Given the description of an element on the screen output the (x, y) to click on. 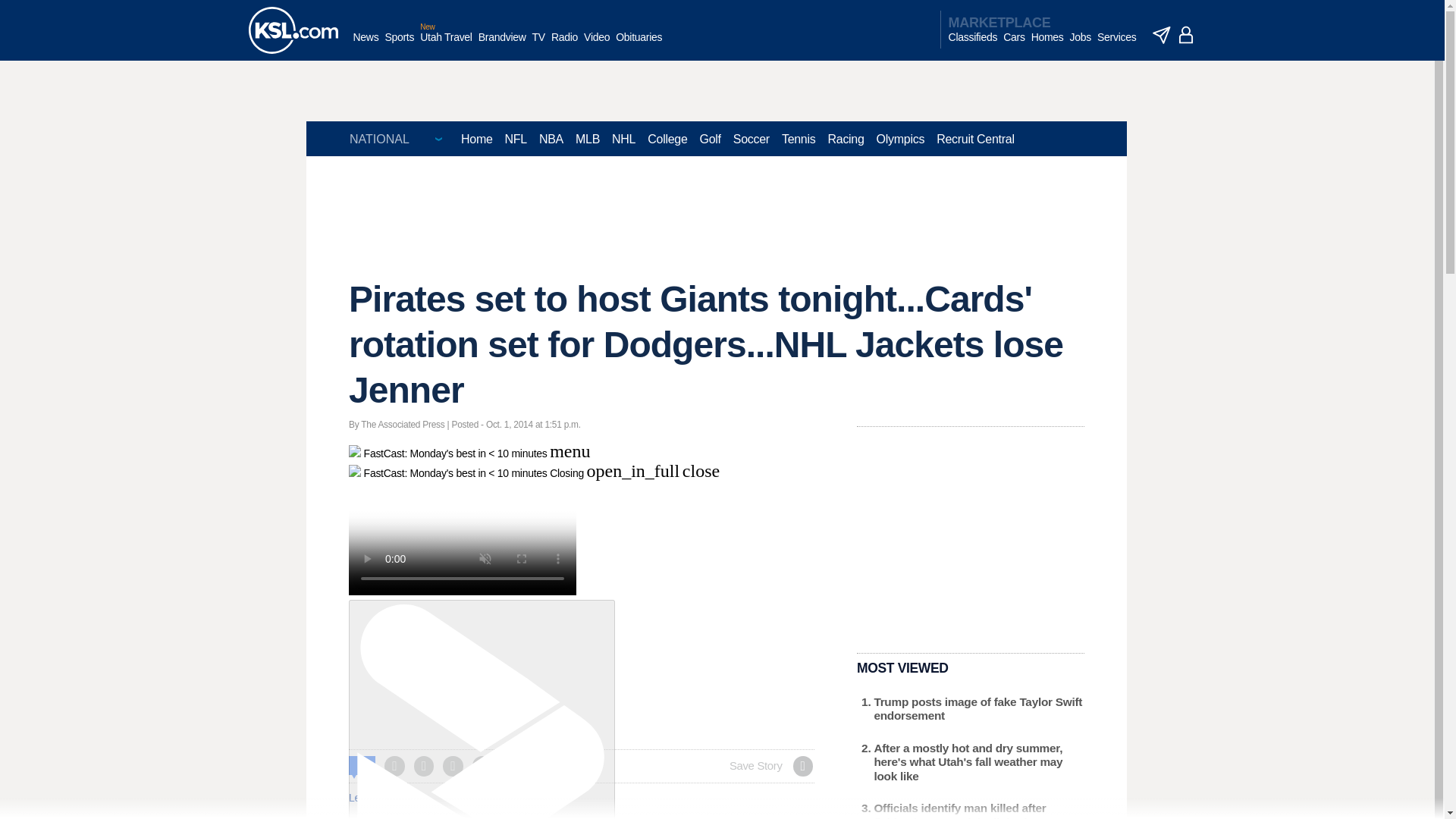
KSL homepage (292, 30)
Utah Travel (445, 45)
Sports (398, 45)
account - logged out (1185, 34)
Brandview (502, 45)
KSL homepage (292, 29)
